Given the description of an element on the screen output the (x, y) to click on. 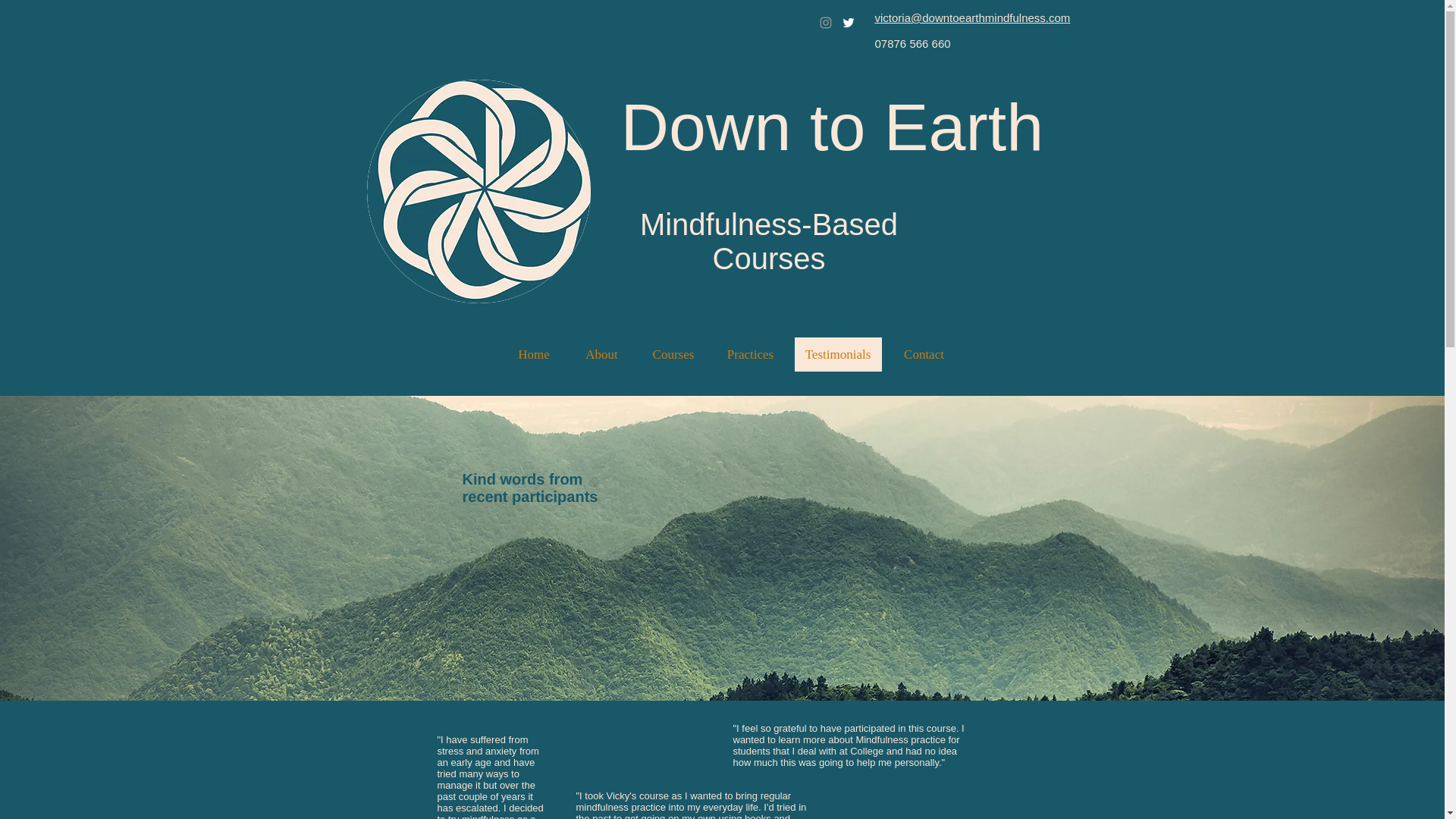
Testimonials (838, 354)
Practices (751, 354)
About (601, 354)
Courses (673, 354)
Contact (922, 354)
Home (534, 354)
